Given the description of an element on the screen output the (x, y) to click on. 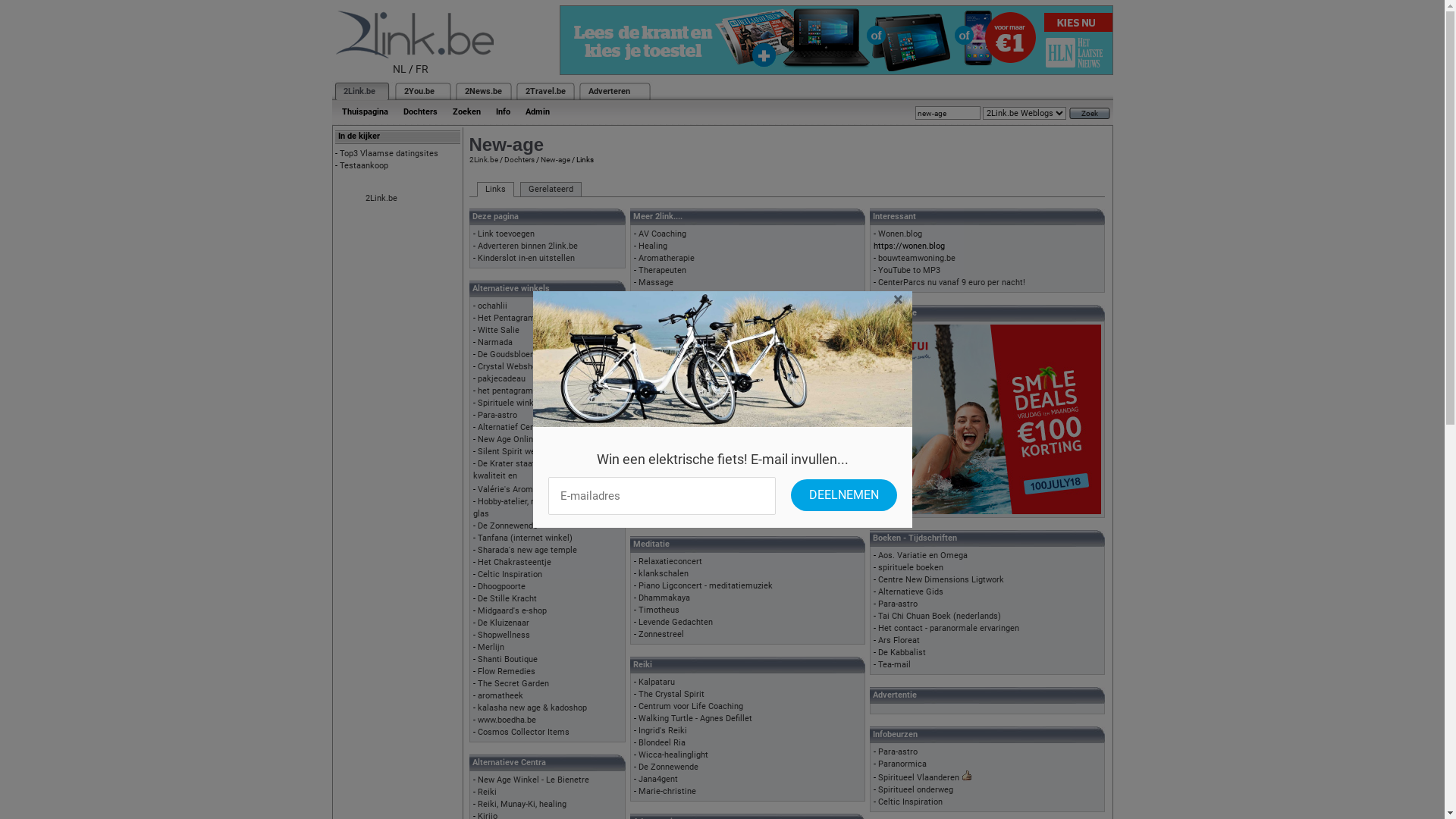
Silent Spirit webshop nl Element type: text (522, 451)
Top3 Vlaamse datingsites Element type: text (388, 153)
Para-astro Element type: text (497, 415)
Relaxatieconcert Element type: text (670, 561)
Link toevoegen Element type: text (505, 233)
Sweda-lotus Element type: text (661, 453)
Paranormica Element type: text (902, 763)
Info Element type: text (502, 111)
Links Element type: text (494, 189)
YouTube to MP3 Element type: text (909, 270)
2You.be Element type: text (418, 91)
Het Chakrasteentje Element type: text (514, 562)
Tea-mail Element type: text (894, 664)
Crystal Webshop Element type: text (509, 366)
Shopwellness Element type: text (503, 635)
Marie-christine Element type: text (667, 791)
Witte Salie Element type: text (498, 330)
Cosmos Collector Items Element type: text (523, 732)
Massagecentrum.info Element type: text (679, 513)
Lichtwerk Element type: text (656, 294)
spirituele boeken Element type: text (910, 567)
New-age Element type: text (554, 159)
Adverteren Element type: text (609, 91)
Sharada's new age temple Element type: text (527, 550)
Celtic Inspiration Element type: text (910, 801)
Hobby-atelier, mooier met licht en glas Element type: text (539, 507)
Kaartleggen Element type: text (661, 308)
Zoek Element type: text (1089, 113)
Wonen.blog Element type: text (900, 233)
Centre New Dimensions Ligtwork Element type: text (941, 579)
www.boedha.be Element type: text (506, 719)
2Link.be Element type: text (358, 91)
Wicca-healinglight Element type: text (673, 754)
New Age Online Element type: text (507, 439)
Ingrid's Reiki Element type: text (662, 730)
Spiritueel Vlaanderen Element type: text (918, 777)
2Link.be Element type: text (482, 159)
Testaankoop Element type: text (363, 165)
Tai Chi Chuan Boek (nederlands) Element type: text (939, 616)
CenterParcs nu vanaf 9 euro per nacht! Element type: text (951, 282)
FR Element type: text (421, 68)
Timotheus Element type: text (658, 610)
Massage Element type: text (655, 282)
Het Pentagram Element type: text (506, 318)
New Age Winkel - Le Bienetre Element type: text (533, 779)
Para-astro Element type: text (897, 603)
Shanti Boutique Element type: text (507, 659)
6 uur vakantie, Castricum Element type: text (686, 465)
Admin Element type: text (536, 111)
Flow Remedies Element type: text (506, 671)
Walking Turtle - Agnes Defillet Element type: text (695, 718)
The Crystal Spirit Element type: text (671, 694)
Adverteren binnen 2link.be Element type: text (527, 246)
Healing Element type: text (652, 246)
Zoeken Element type: text (465, 111)
Gerelateerd Element type: text (550, 189)
pakjecadeau Element type: text (501, 378)
Piano Ligconcert - meditatiemuziek Element type: text (705, 585)
Therapeuten Element type: text (662, 270)
Aos. Variatie en Omega Element type: text (922, 555)
Reiki, Munay-Ki, healing Element type: text (521, 804)
The Secret Garden Element type: text (513, 683)
Para-astro Element type: text (897, 751)
Spiritueel onderweg Element type: text (915, 789)
ariane-wellness Element type: text (667, 416)
Ontspanningsmassage Anne-Mieke Element type: text (705, 392)
Zonnestreel Element type: text (661, 634)
Alternatieve Gids Element type: text (910, 591)
Dhammakaya Element type: text (664, 597)
kalasha new age & kadoshop Element type: text (531, 707)
ochahlii Element type: text (492, 305)
Hotstone Massage Limburg Element type: text (690, 428)
2Travel.be Element type: text (544, 91)
Jana Element type: text (647, 477)
De Zonnewende Element type: text (668, 766)
Kalpataru Element type: text (656, 682)
AV Coaching Element type: text (662, 233)
Dochters Element type: text (420, 111)
Feng Shui and More Element type: text (675, 440)
De Krater staat nog steeds voor kwaliteit en Element type: text (535, 469)
Thuispagina Element type: text (364, 111)
2News.be Element type: text (482, 91)
Zensitive Element type: text (655, 501)
Ars Floreat Element type: text (898, 640)
Centrum voor Life Coaching Element type: text (690, 706)
bouwteamwoning.be Element type: text (916, 258)
Midgaard's e-shop Element type: text (511, 610)
Reiki Element type: text (486, 792)
aromatheek Element type: text (500, 695)
Kinderslot in-en uitstellen Element type: text (525, 258)
Dochters Element type: text (518, 159)
Wellness Lounge Element type: text (670, 404)
het pentagram Element type: text (505, 390)
Spirituele winkel Element type: text (508, 402)
Tanfana (internet winkel) Element type: text (524, 537)
De Kabbalist Element type: text (901, 652)
klankschalen Element type: text (663, 573)
NL Element type: text (399, 68)
Jana4gent Element type: text (657, 779)
Het contact - paranormale ervaringen Element type: text (948, 628)
Narmada Element type: text (494, 342)
Levende Gedachten Element type: text (675, 622)
De Zonnewende Element type: text (507, 525)
De Stille Kracht Element type: text (506, 598)
2Link.be Element type: text (381, 198)
De Goudsbloem Element type: text (507, 354)
Blondeel Ria Element type: text (661, 742)
Alternatief Centrum Element type: text (514, 427)
Celtic Inspiration Element type: text (509, 574)
Zonnestreel Element type: text (661, 489)
Haptonomie Element type: text (661, 368)
Wellness - Rust Element type: text (667, 380)
De Kluizenaar Element type: text (503, 622)
Aromatherapie Element type: text (666, 258)
Ontspanningsmassage Element type: text (681, 355)
Merlijn Element type: text (490, 647)
Dhoogpoorte Element type: text (501, 586)
